Given the description of an element on the screen output the (x, y) to click on. 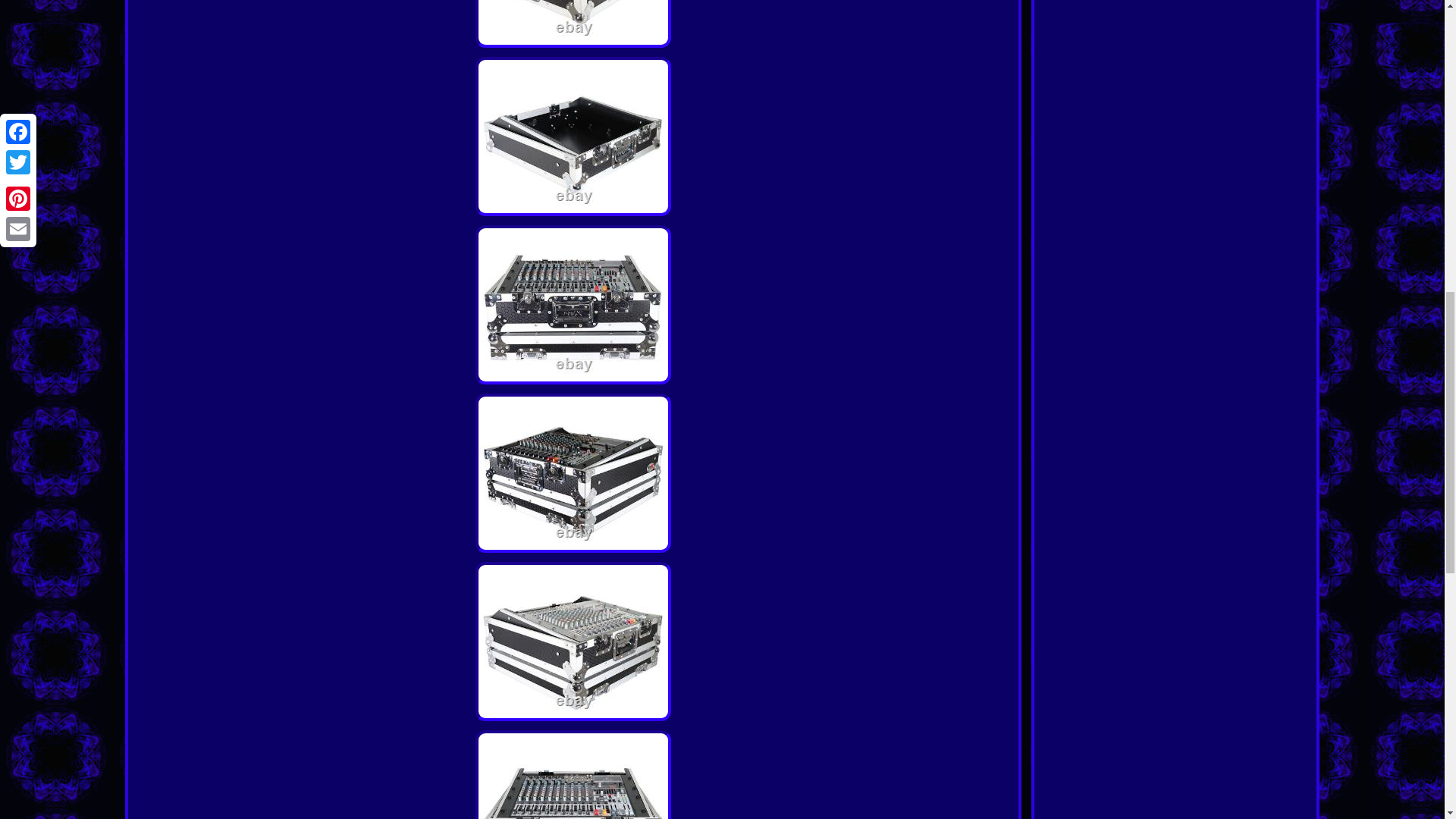
ProX T-MC 19 Rack Mixer Case with 10U Slant PROAUDIOSTAR (573, 23)
ProX T-MC 19 Rack Mixer Case with 10U Slant PROAUDIOSTAR (573, 136)
ProX T-MC 19 Rack Mixer Case with 10U Slant PROAUDIOSTAR (573, 641)
ProX T-MC 19 Rack Mixer Case with 10U Slant PROAUDIOSTAR (573, 774)
ProX T-MC 19 Rack Mixer Case with 10U Slant PROAUDIOSTAR (573, 304)
ProX T-MC 19 Rack Mixer Case with 10U Slant PROAUDIOSTAR (573, 472)
